Given the description of an element on the screen output the (x, y) to click on. 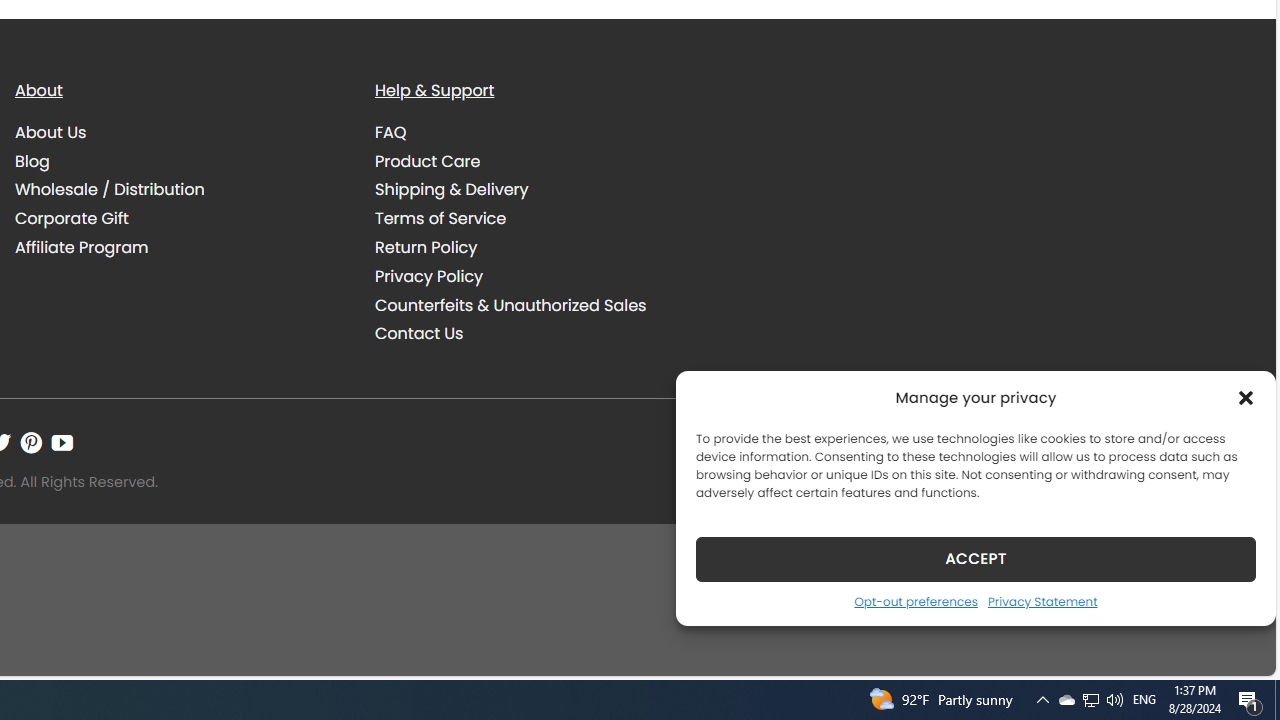
About Us (180, 132)
Blog (32, 160)
Wholesale / Distribution (109, 189)
Blog (180, 161)
Privacy Policy (540, 276)
Terms of Service (440, 219)
Contact Us (419, 333)
Corporate Gift (72, 219)
FAQ (391, 132)
Follow on YouTube (61, 442)
Return Policy (426, 247)
Follow on Pinterest (31, 442)
FAQ (540, 132)
Class: cmplz-close (1245, 397)
ACCEPT (975, 558)
